Given the description of an element on the screen output the (x, y) to click on. 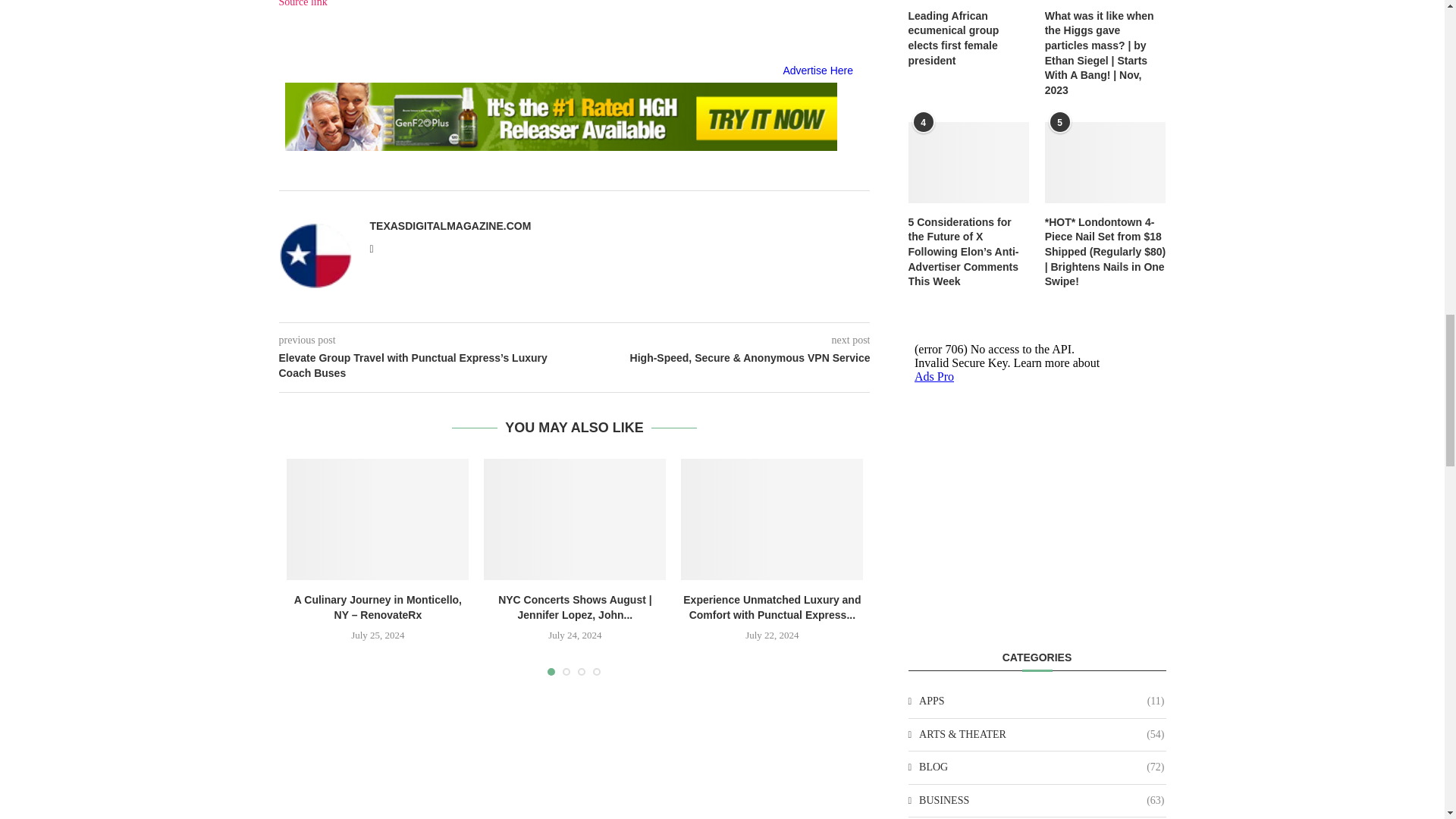
Author TexasDigitalMagazine.com (450, 225)
